Given the description of an element on the screen output the (x, y) to click on. 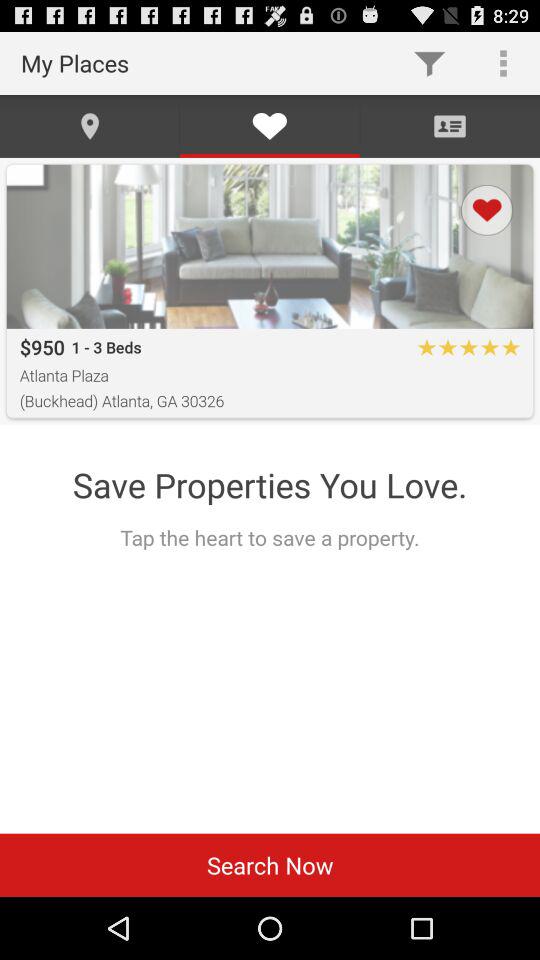
select the app below tap the heart icon (270, 864)
